Given the description of an element on the screen output the (x, y) to click on. 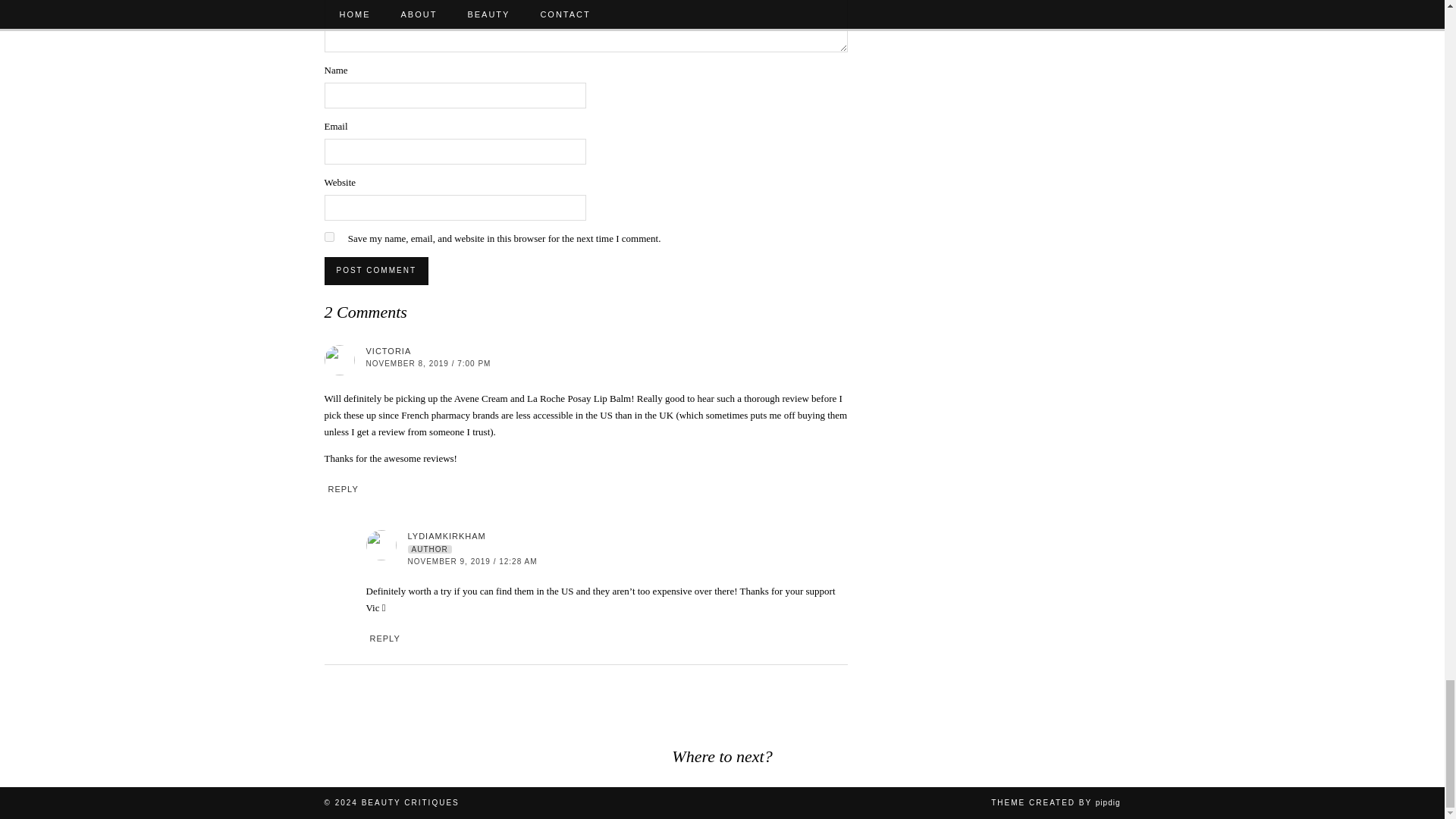
yes (329, 236)
Post Comment (376, 270)
